Given the description of an element on the screen output the (x, y) to click on. 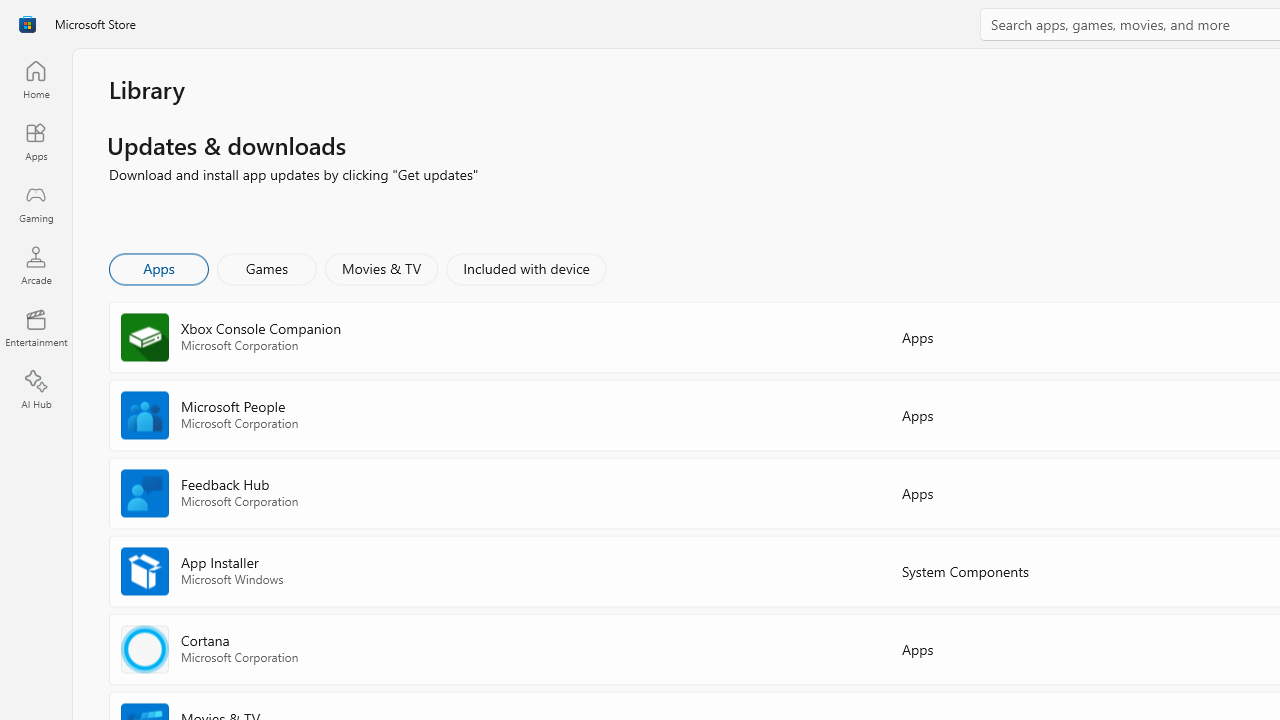
Games (267, 268)
Included with device (525, 268)
Movies & TV (381, 268)
